Given the description of an element on the screen output the (x, y) to click on. 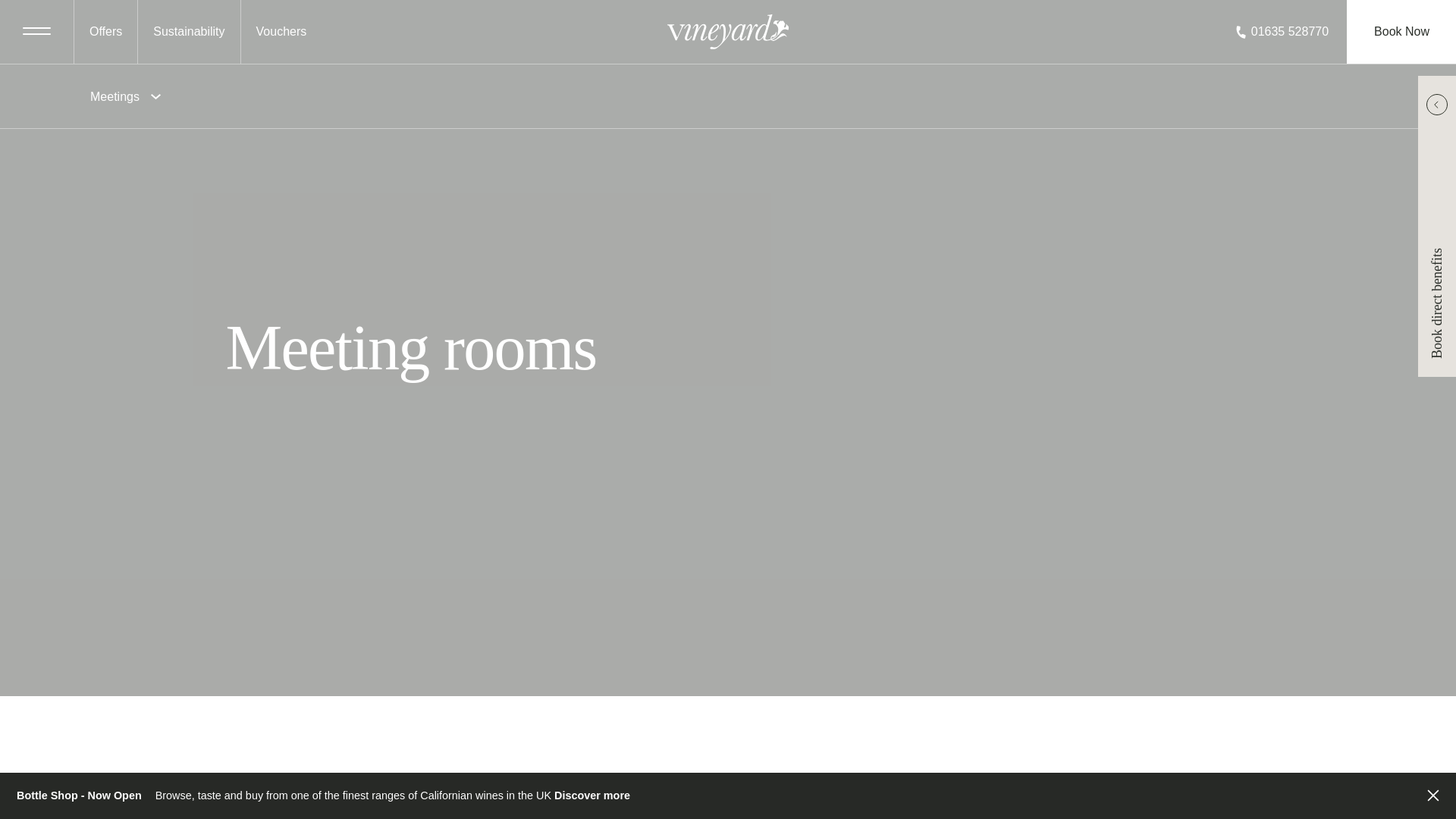
Offers (105, 31)
Sustainability (189, 31)
Vouchers (281, 31)
01635 528770 (1280, 31)
Menu (37, 31)
